Given the description of an element on the screen output the (x, y) to click on. 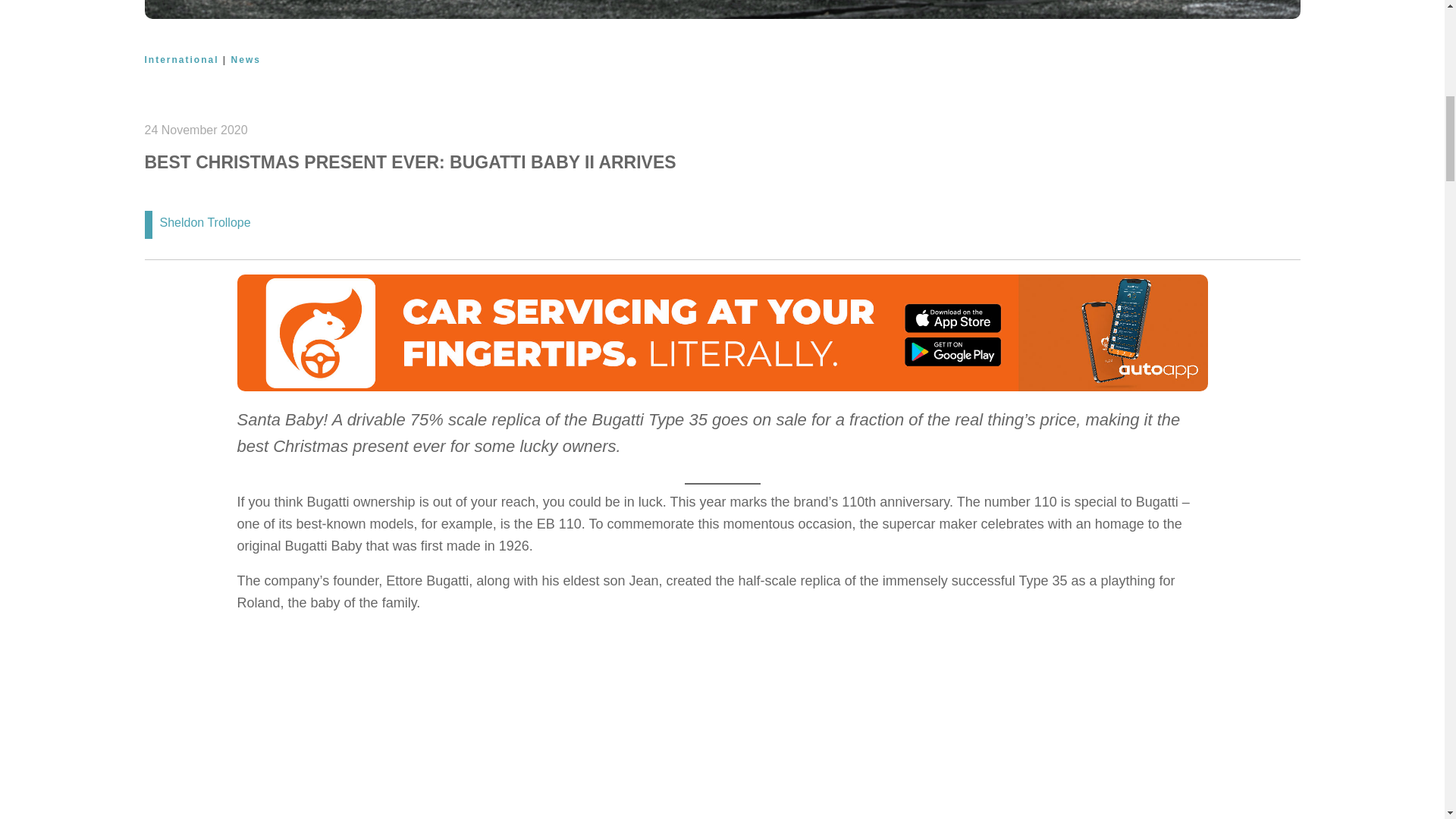
News (245, 59)
International (181, 59)
04-bugatti-baby-bugatti (722, 9)
Sheldon Trollope (204, 222)
